Given the description of an element on the screen output the (x, y) to click on. 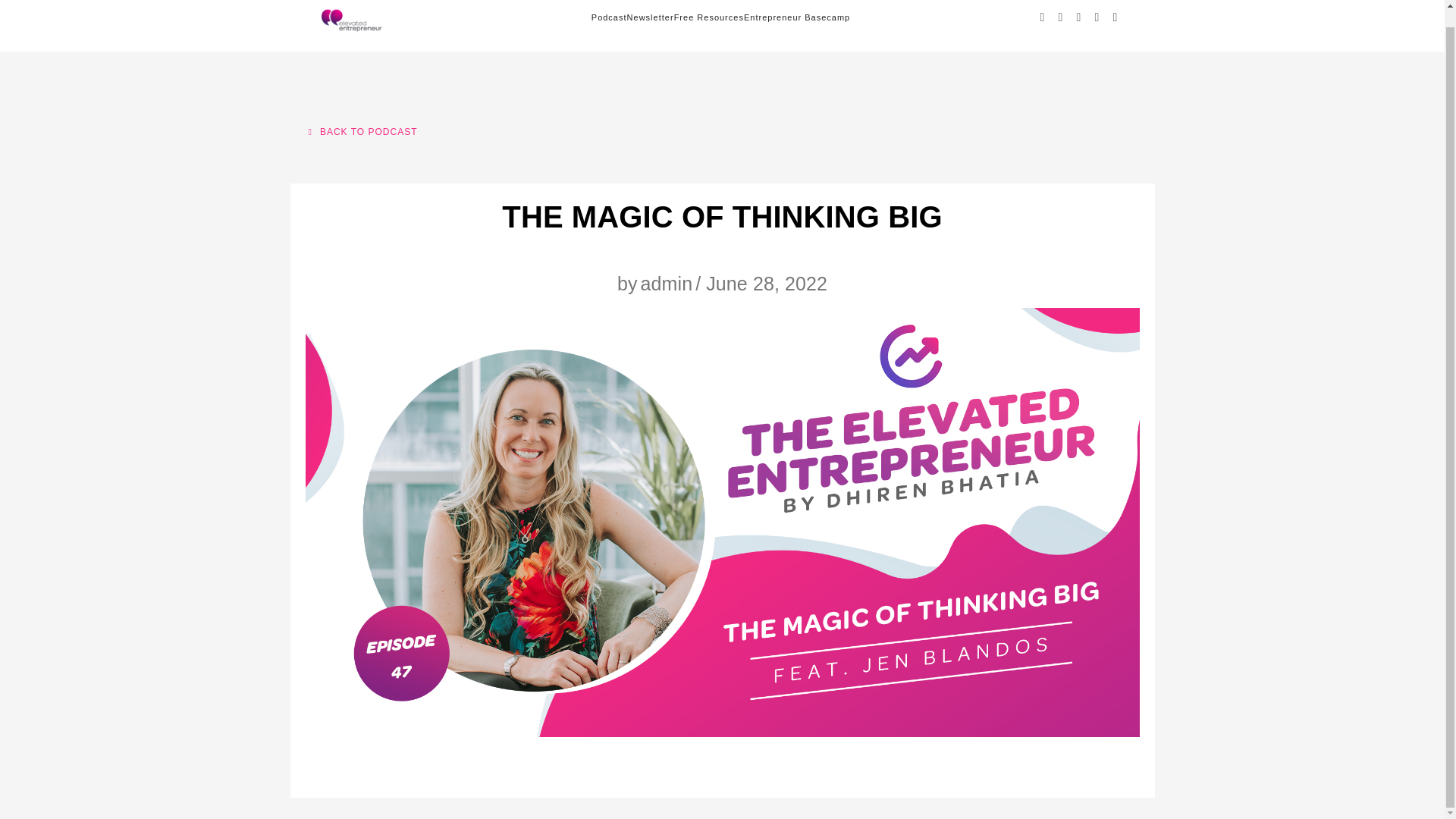
admin (666, 283)
Free Resources (709, 25)
BACK TO PODCAST (362, 132)
Entrepreneur Basecamp (797, 25)
Newsletter (650, 25)
